Given the description of an element on the screen output the (x, y) to click on. 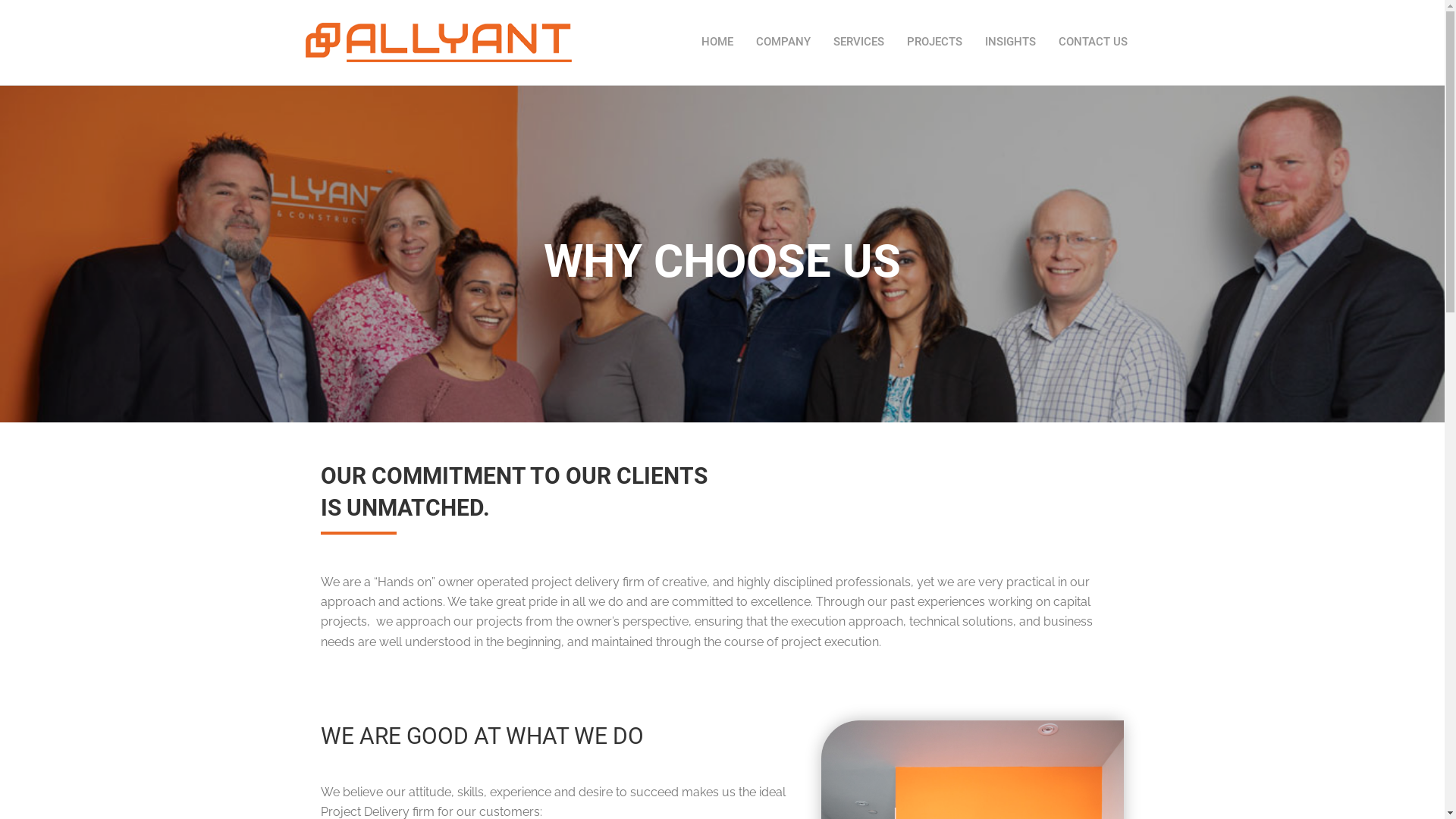
PROJECTS Element type: text (934, 41)
HOME Element type: text (717, 41)
COMPANY Element type: text (783, 41)
SERVICES Element type: text (858, 41)
INSIGHTS Element type: text (1010, 41)
CONTACT US Element type: text (1093, 41)
